Given the description of an element on the screen output the (x, y) to click on. 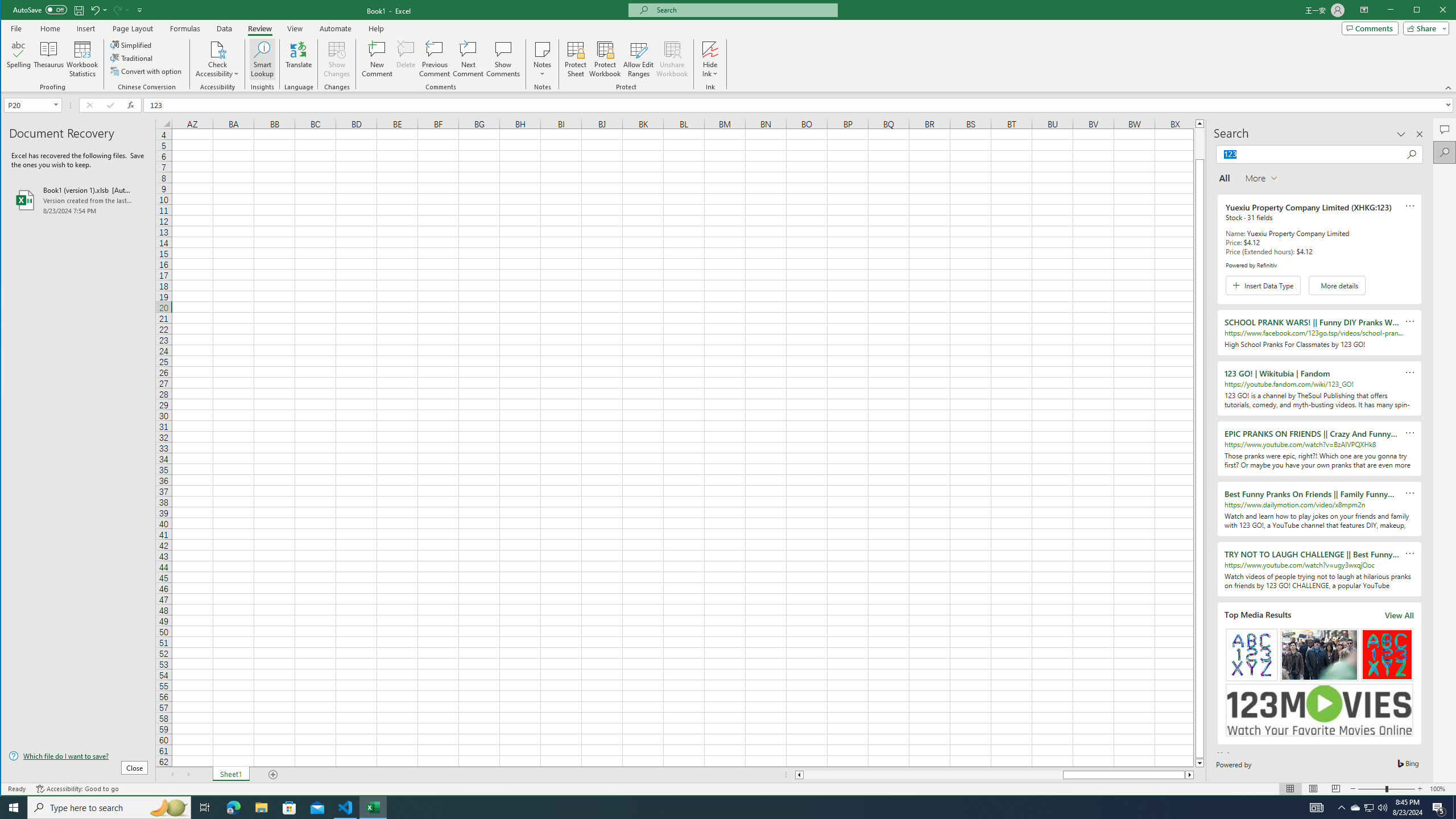
Notification Chevron (1341, 807)
AutomationID: 4105 (1316, 807)
Page up (1199, 142)
Q2790: 100% (1382, 807)
File Explorer (261, 807)
